Given the description of an element on the screen output the (x, y) to click on. 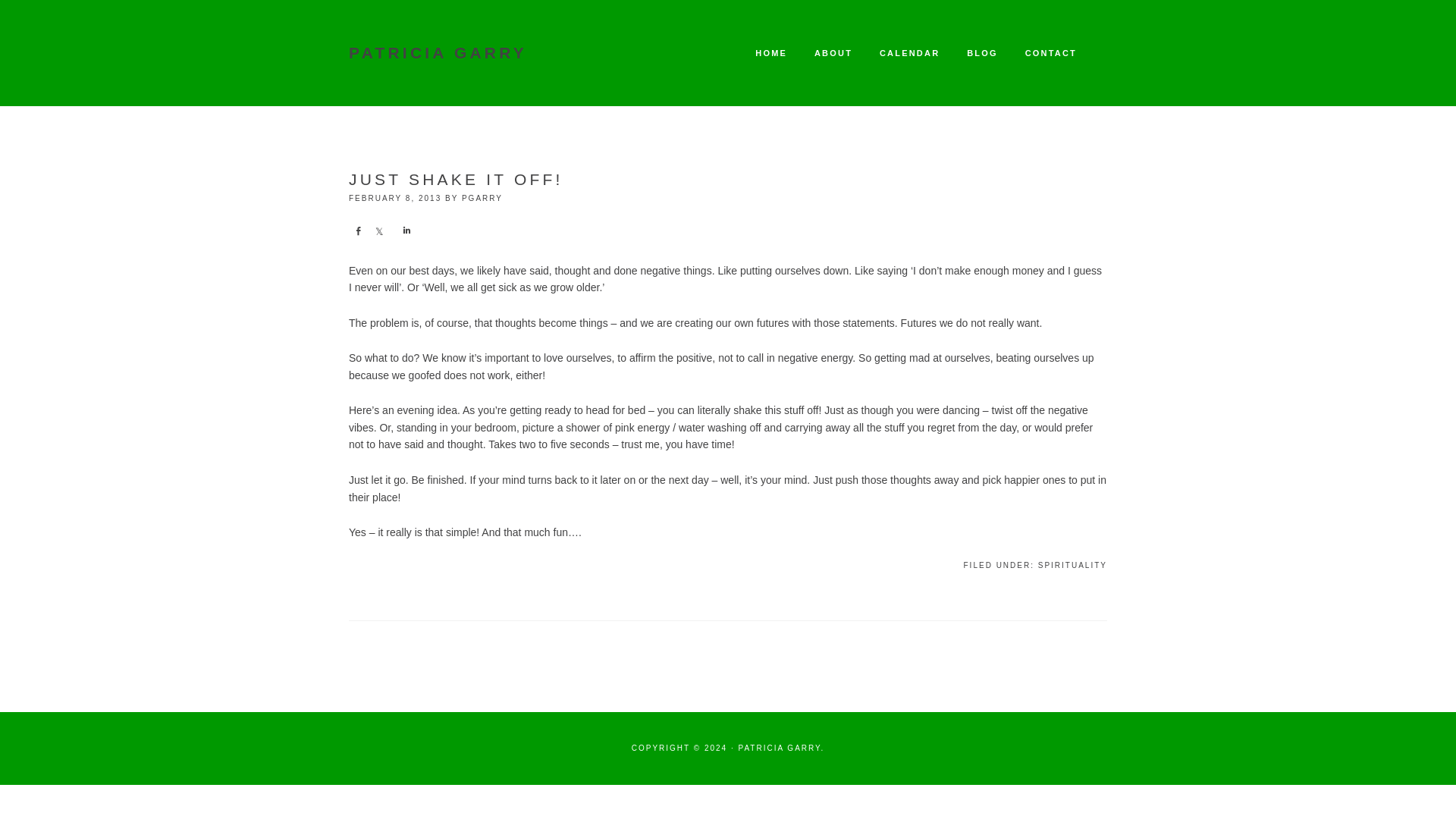
Share (357, 230)
CONTACT (1051, 53)
PGARRY (481, 198)
CALENDAR (909, 53)
SPIRITUALITY (1072, 565)
PATRICIA GARRY (438, 53)
Share (379, 230)
Share (405, 230)
